Given the description of an element on the screen output the (x, y) to click on. 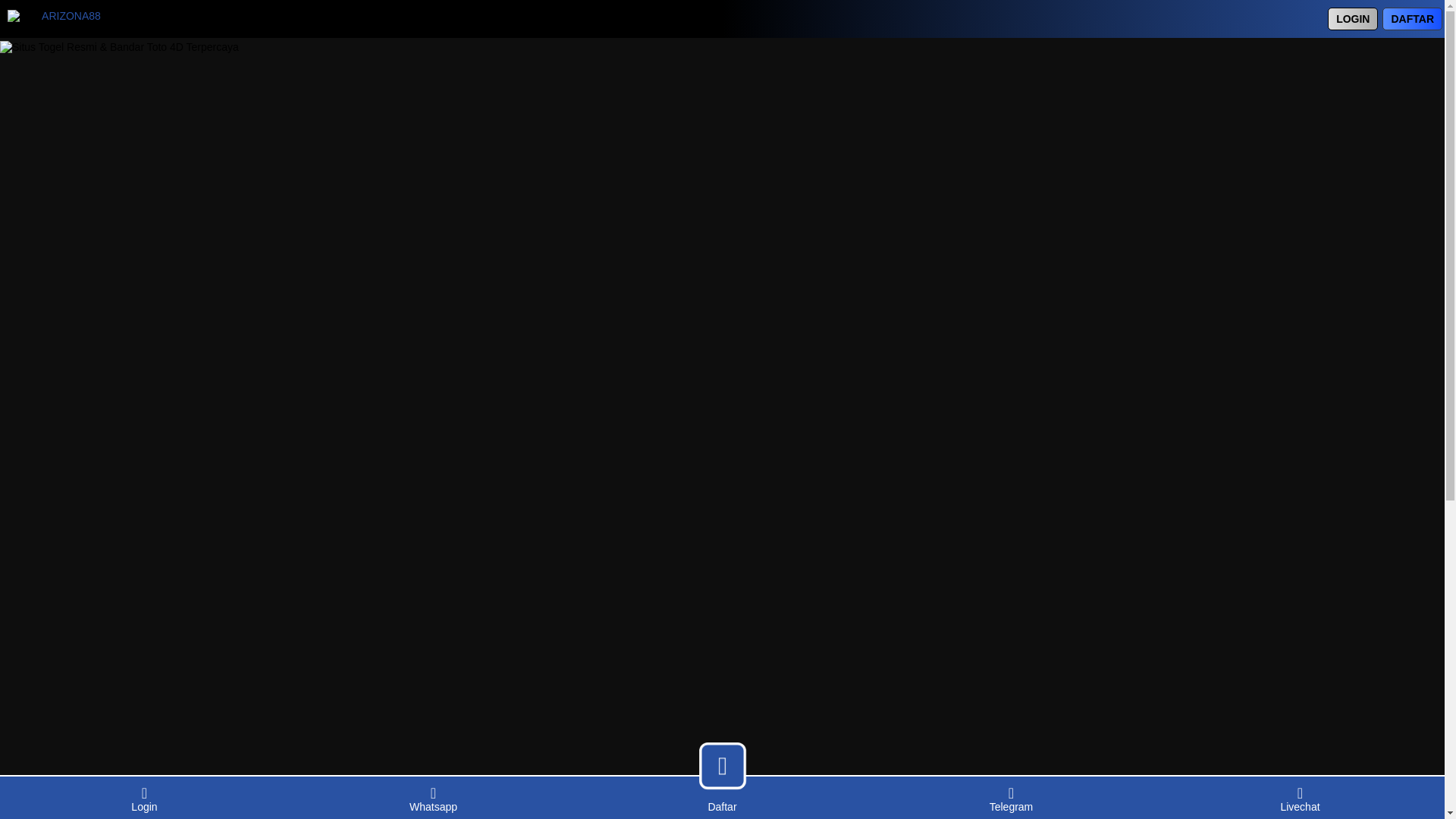
LOGIN (1352, 18)
Login (144, 797)
Daftar (722, 805)
DAFTAR (1411, 18)
Telegram (1011, 797)
Whatsapp (433, 797)
